Given the description of an element on the screen output the (x, y) to click on. 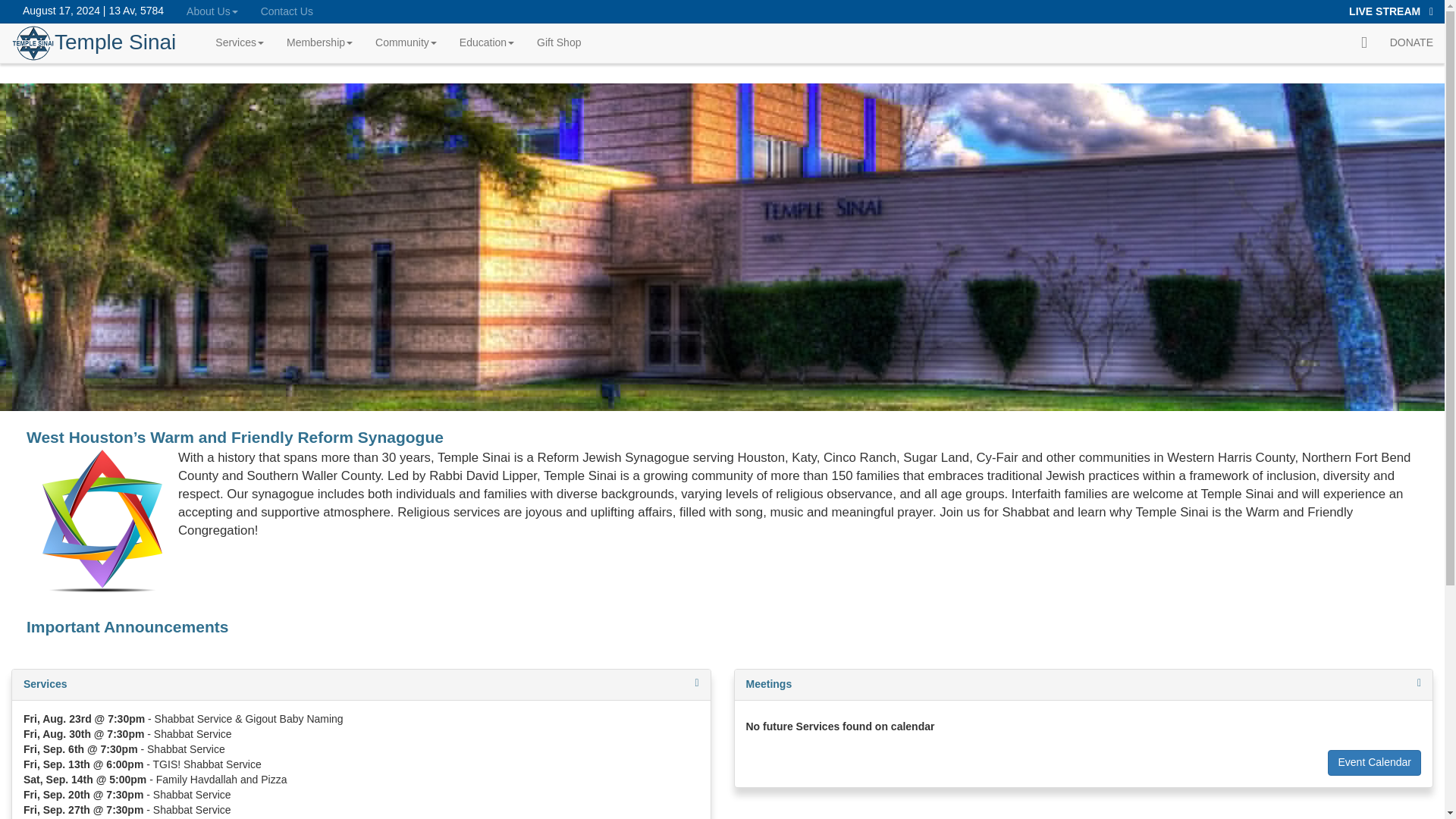
Contact Us (286, 11)
Services (239, 42)
Community (406, 42)
Gift Shop (558, 42)
Temple Sinai (107, 42)
Membership (319, 42)
Event Calendar (1374, 762)
About Us (211, 11)
Education (486, 42)
